Given the description of an element on the screen output the (x, y) to click on. 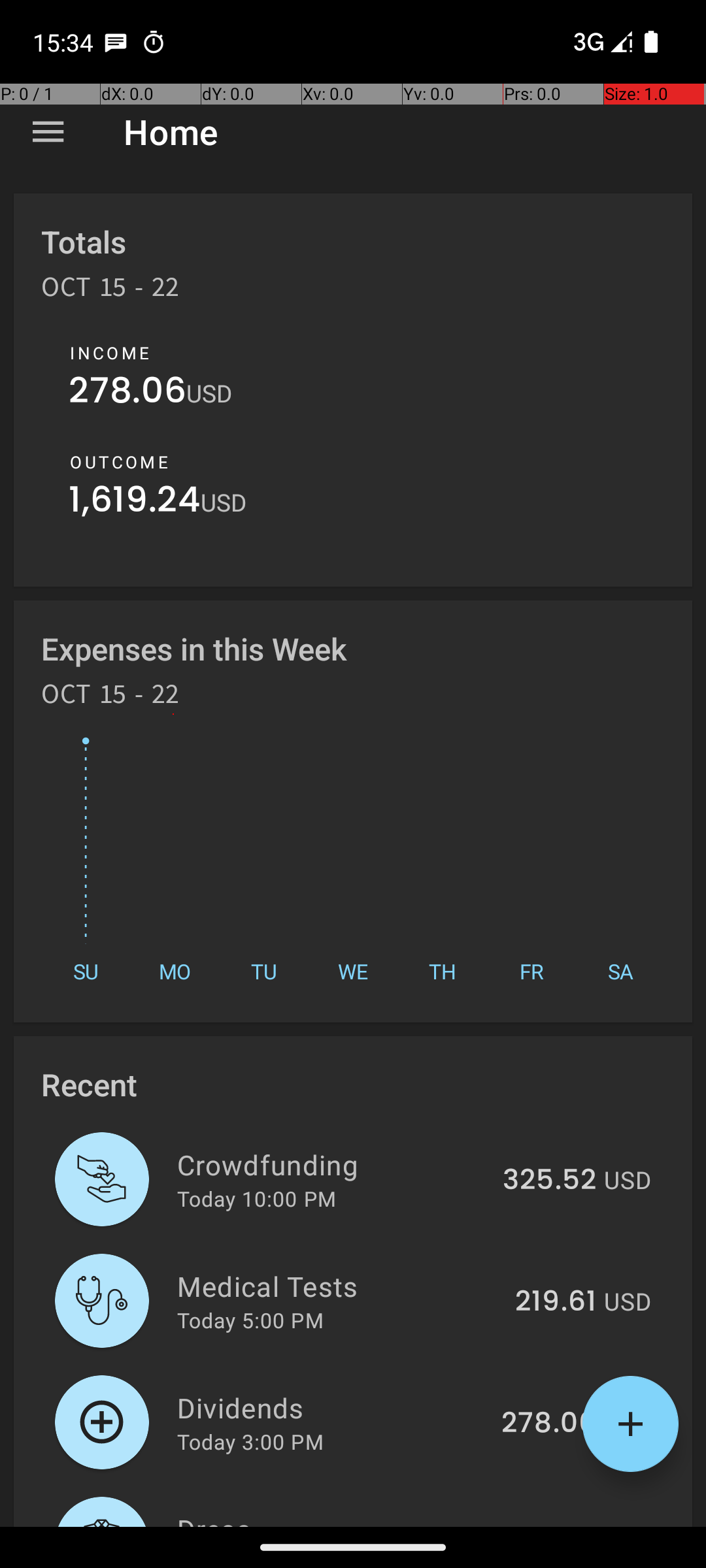
278.06 Element type: android.widget.TextView (127, 393)
1,619.24 Element type: android.widget.TextView (134, 502)
Crowdfunding Element type: android.widget.TextView (332, 1164)
325.52 Element type: android.widget.TextView (549, 1180)
Medical Tests Element type: android.widget.TextView (338, 1285)
219.61 Element type: android.widget.TextView (555, 1301)
Dividends Element type: android.widget.TextView (331, 1407)
Dress Element type: android.widget.TextView (330, 1518)
487.85 Element type: android.widget.TextView (547, 1524)
